Given the description of an element on the screen output the (x, y) to click on. 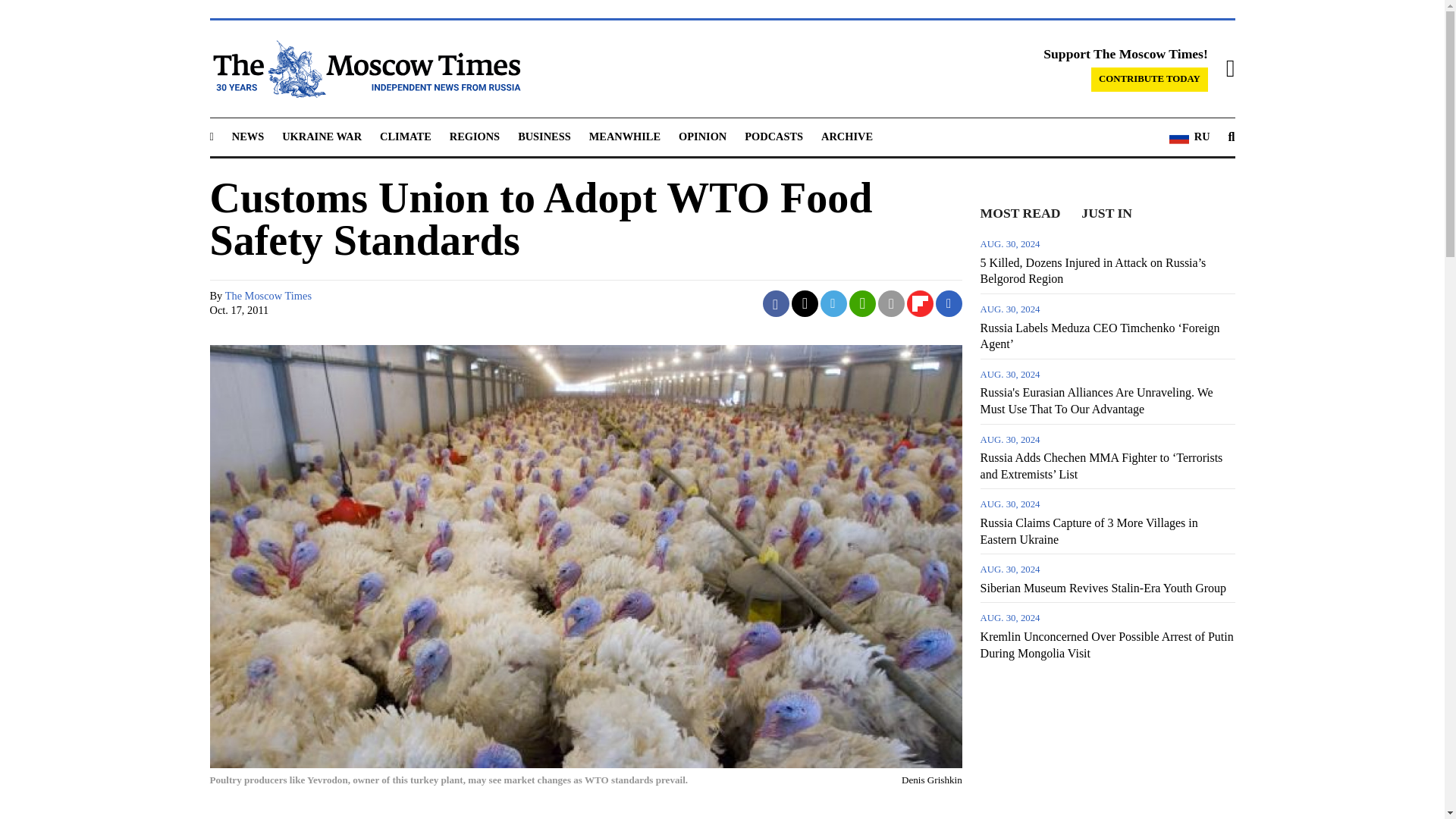
BUSINESS (544, 136)
MEANWHILE (625, 136)
NEWS (247, 136)
REGIONS (474, 136)
PODCASTS (773, 136)
Share on Facebook (775, 303)
The Moscow Times (268, 295)
ARCHIVE (846, 136)
The Moscow Times - Independent News from Russia (364, 68)
UKRAINE WAR (321, 136)
